Given the description of an element on the screen output the (x, y) to click on. 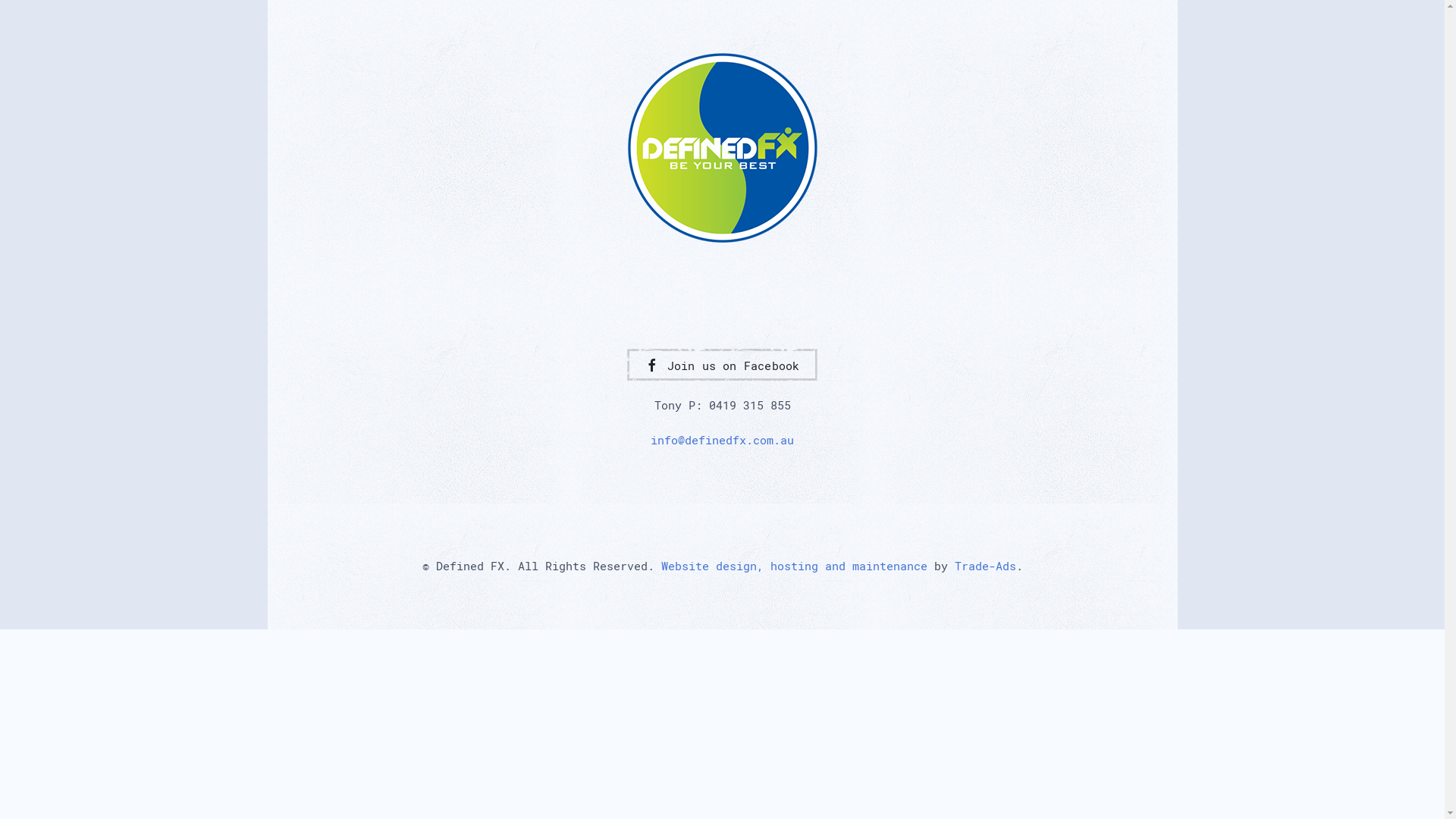
Trade-Ads Element type: text (984, 565)
Join us on Facebook Element type: text (721, 364)
info@definedfx.com.au Element type: text (721, 439)
Website design, hosting and maintenance Element type: text (794, 565)
